Given the description of an element on the screen output the (x, y) to click on. 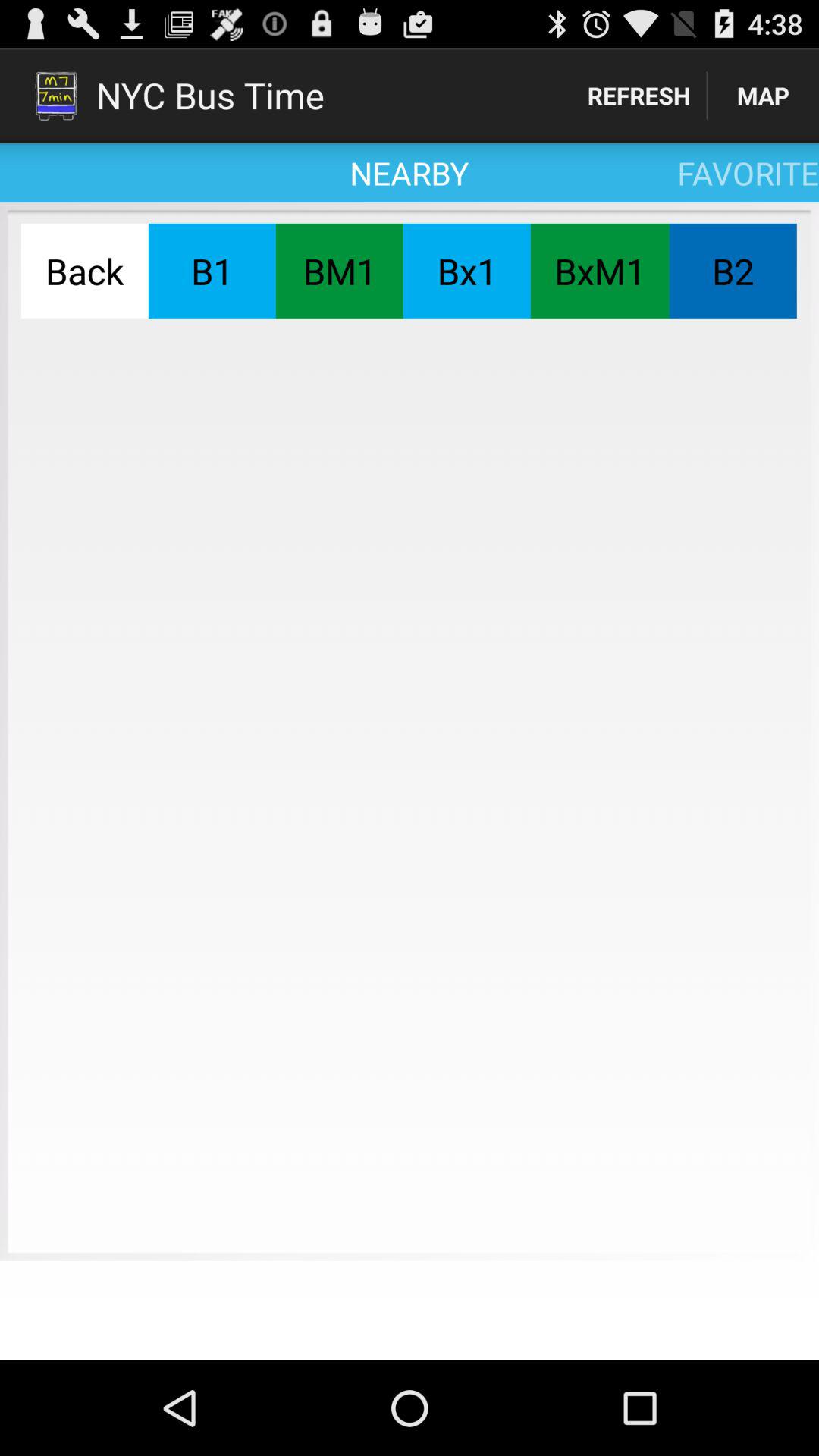
open the app below favorite app (599, 271)
